Given the description of an element on the screen output the (x, y) to click on. 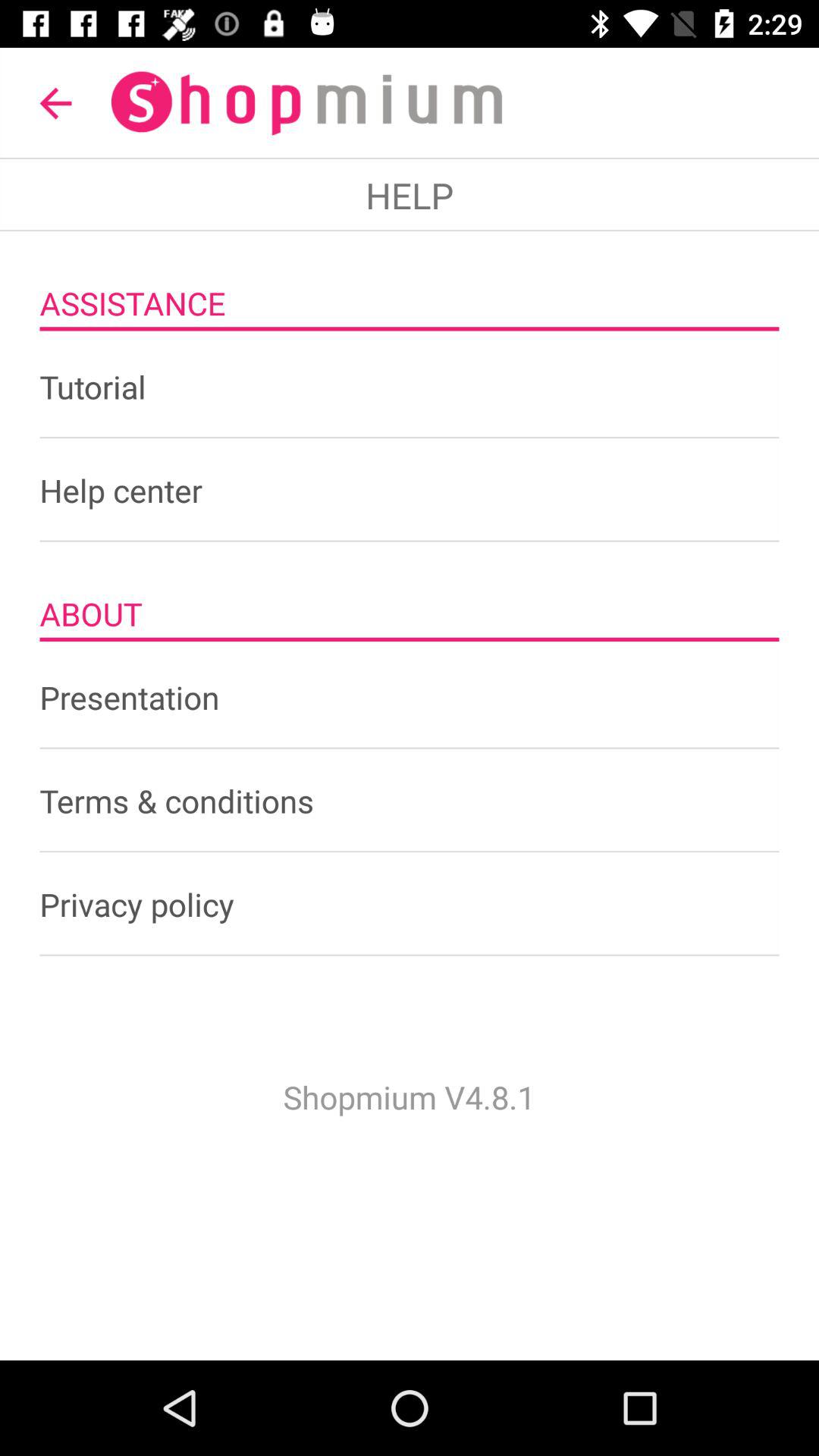
choose the item below terms & conditions (409, 904)
